Given the description of an element on the screen output the (x, y) to click on. 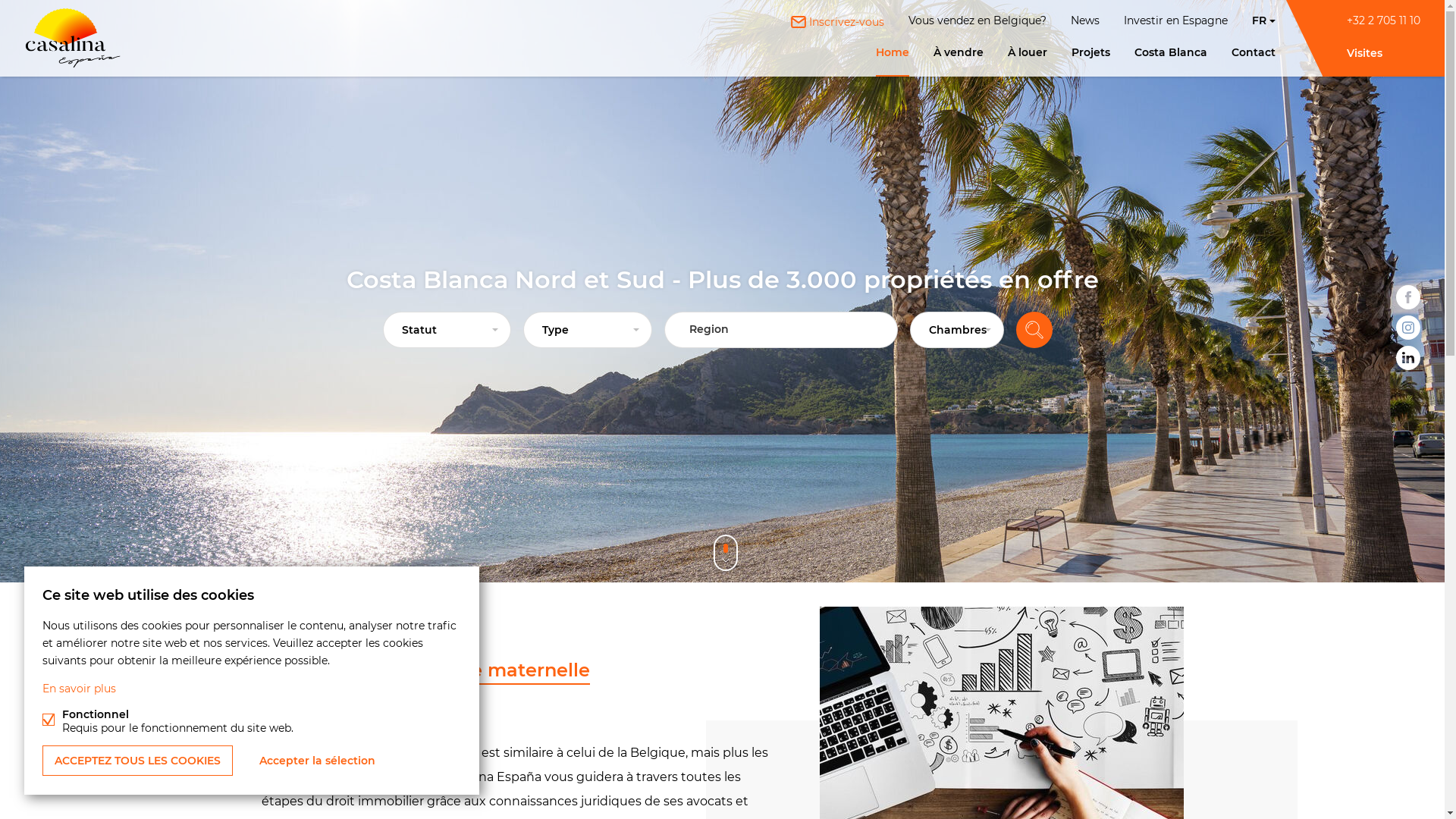
Inscrivez-vous Element type: text (837, 15)
Costa Blanca Element type: text (1170, 59)
News Element type: text (1084, 14)
Projets Element type: text (1090, 59)
En bas Element type: text (724, 548)
ACCEPTEZ TOUS LES COOKIES Element type: text (137, 760)
En savoir plus Element type: text (79, 688)
Vous vendez en Belgique? Element type: text (977, 14)
Facebook Element type: text (1408, 294)
Home Element type: text (892, 59)
+32 2 705 11 10 Element type: text (1383, 20)
Contact Element type: text (1253, 59)
Linkedin Element type: text (1408, 355)
Instagram Element type: text (1408, 324)
Visites Element type: text (1383, 53)
Investir en Espagne Element type: text (1175, 14)
Chercher Element type: text (1034, 329)
Casalina Element type: text (72, 37)
